Given the description of an element on the screen output the (x, y) to click on. 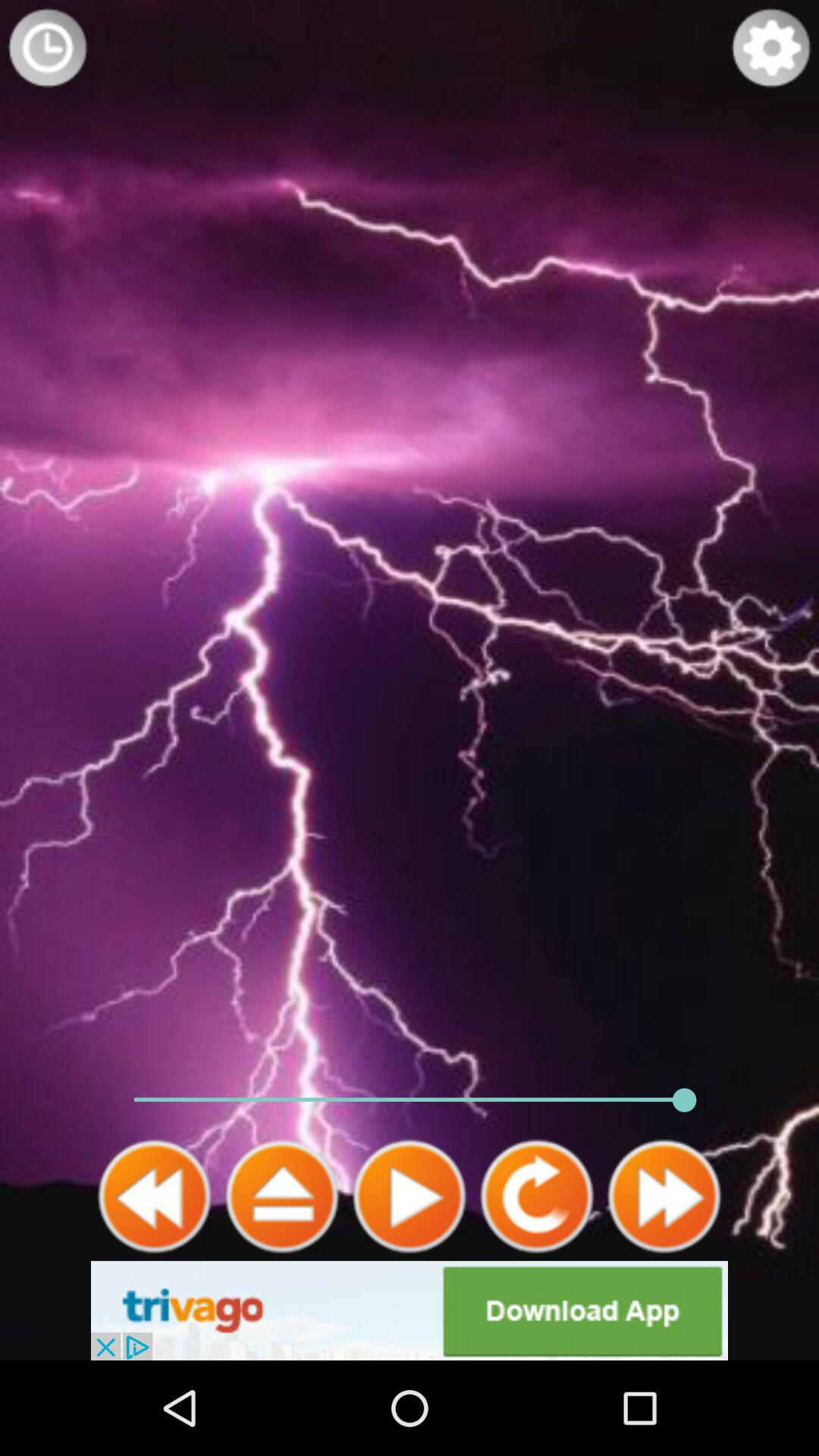
repeat song button (536, 1196)
